Given the description of an element on the screen output the (x, y) to click on. 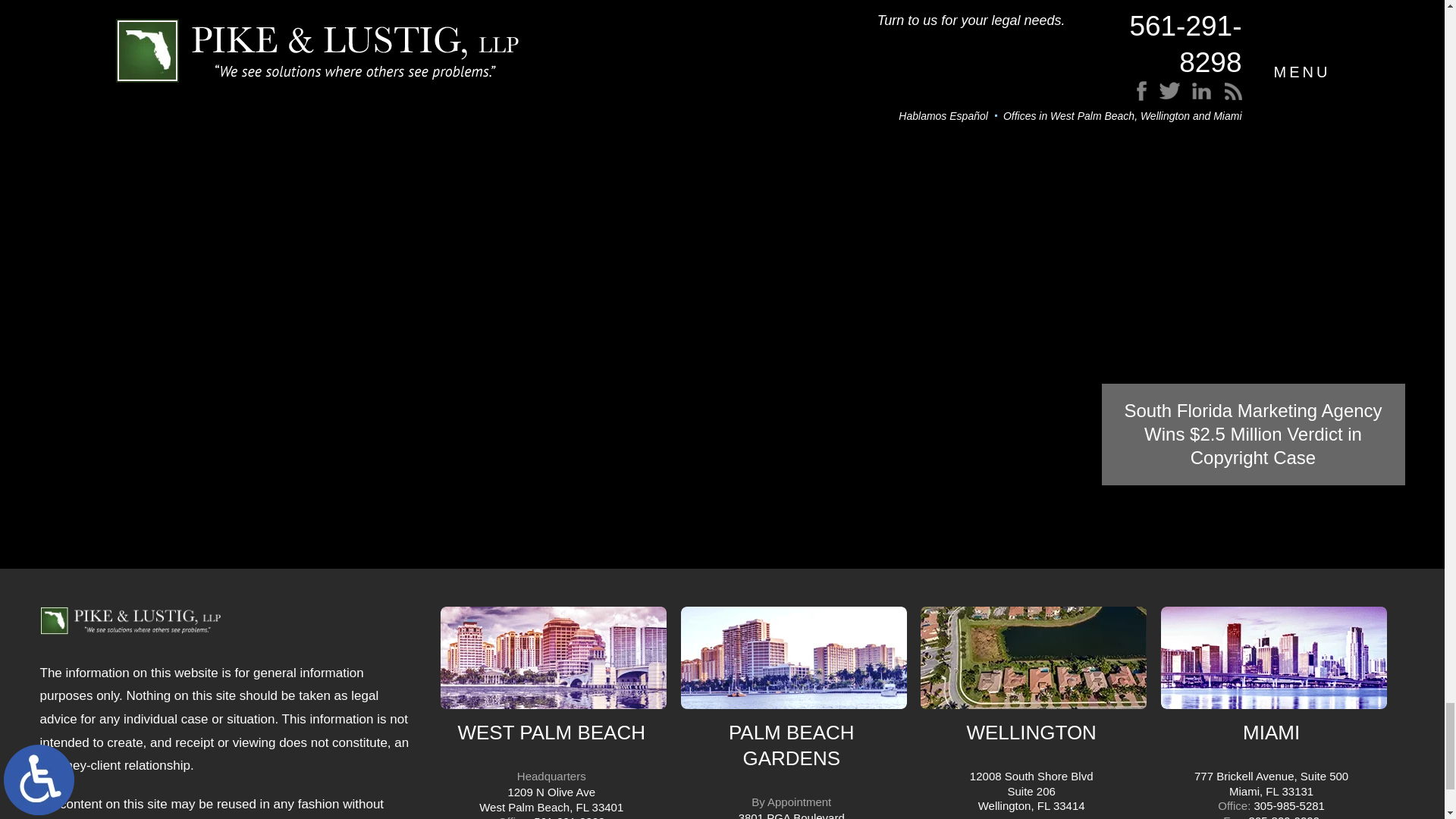
Palm Beach Gardens (794, 657)
Wellington (1033, 657)
Miami (1273, 657)
West Palm Beach Business Attorney (129, 626)
West Palm Beach (553, 657)
